Given the description of an element on the screen output the (x, y) to click on. 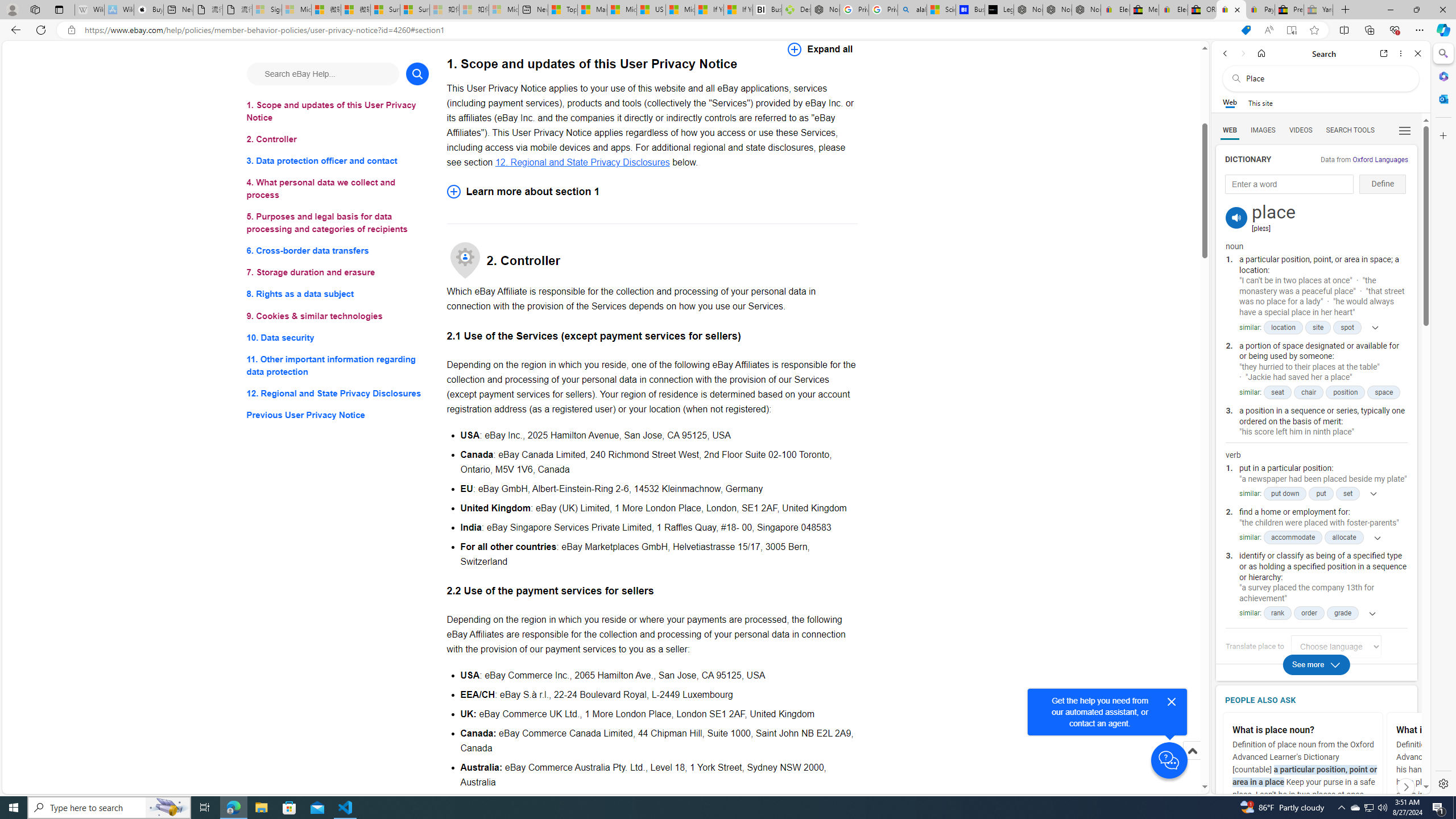
VIDEOS (1300, 130)
10. Data security (337, 336)
Outlook (1442, 98)
12. Regional and State Privacy Disclosures (582, 162)
11. Other important information regarding data protection (337, 365)
User Privacy Notice | eBay (1230, 9)
